Given the description of an element on the screen output the (x, y) to click on. 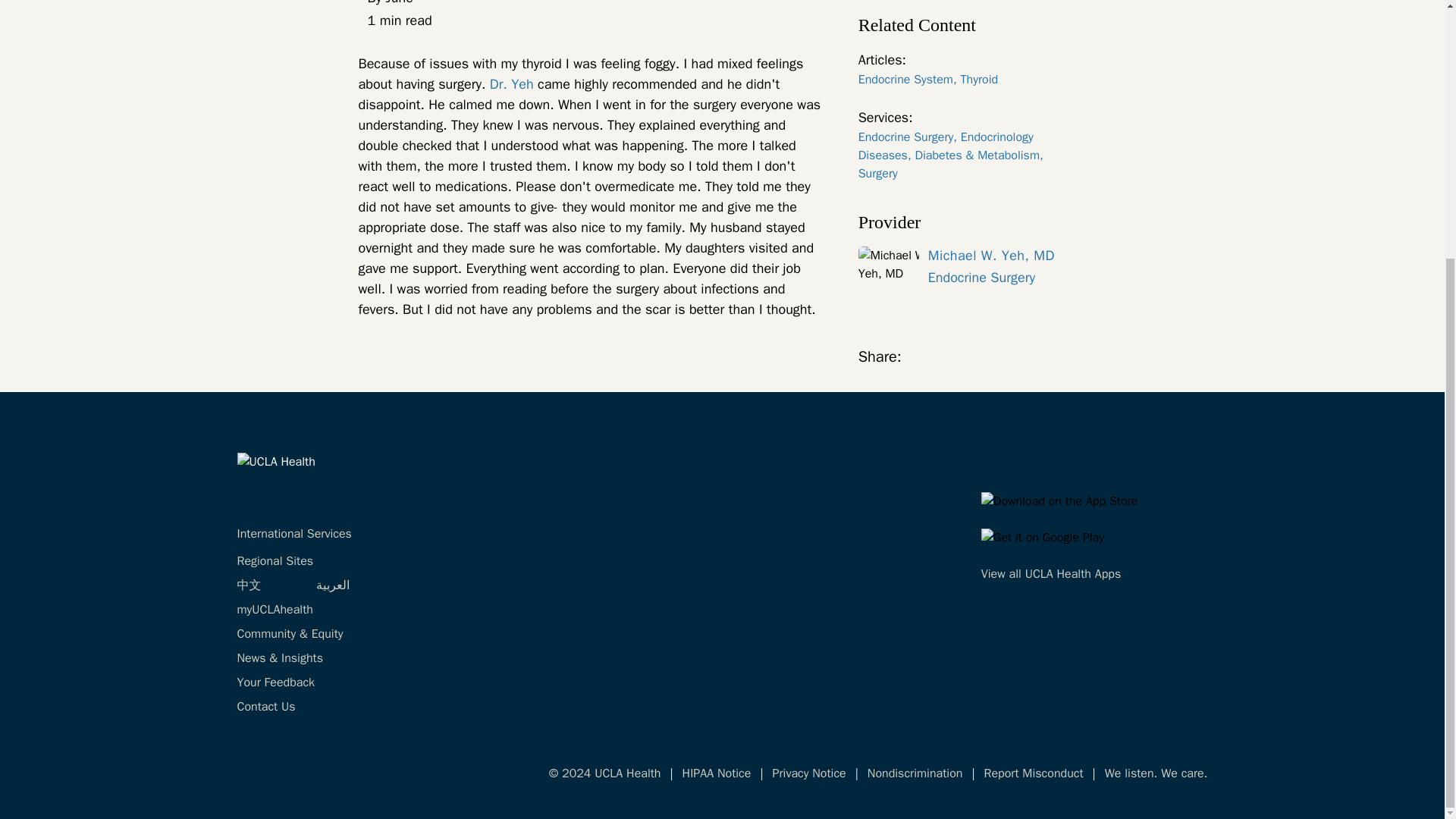
myUCLAhealth Login. (274, 609)
Dr. Yeh (511, 84)
